Given the description of an element on the screen output the (x, y) to click on. 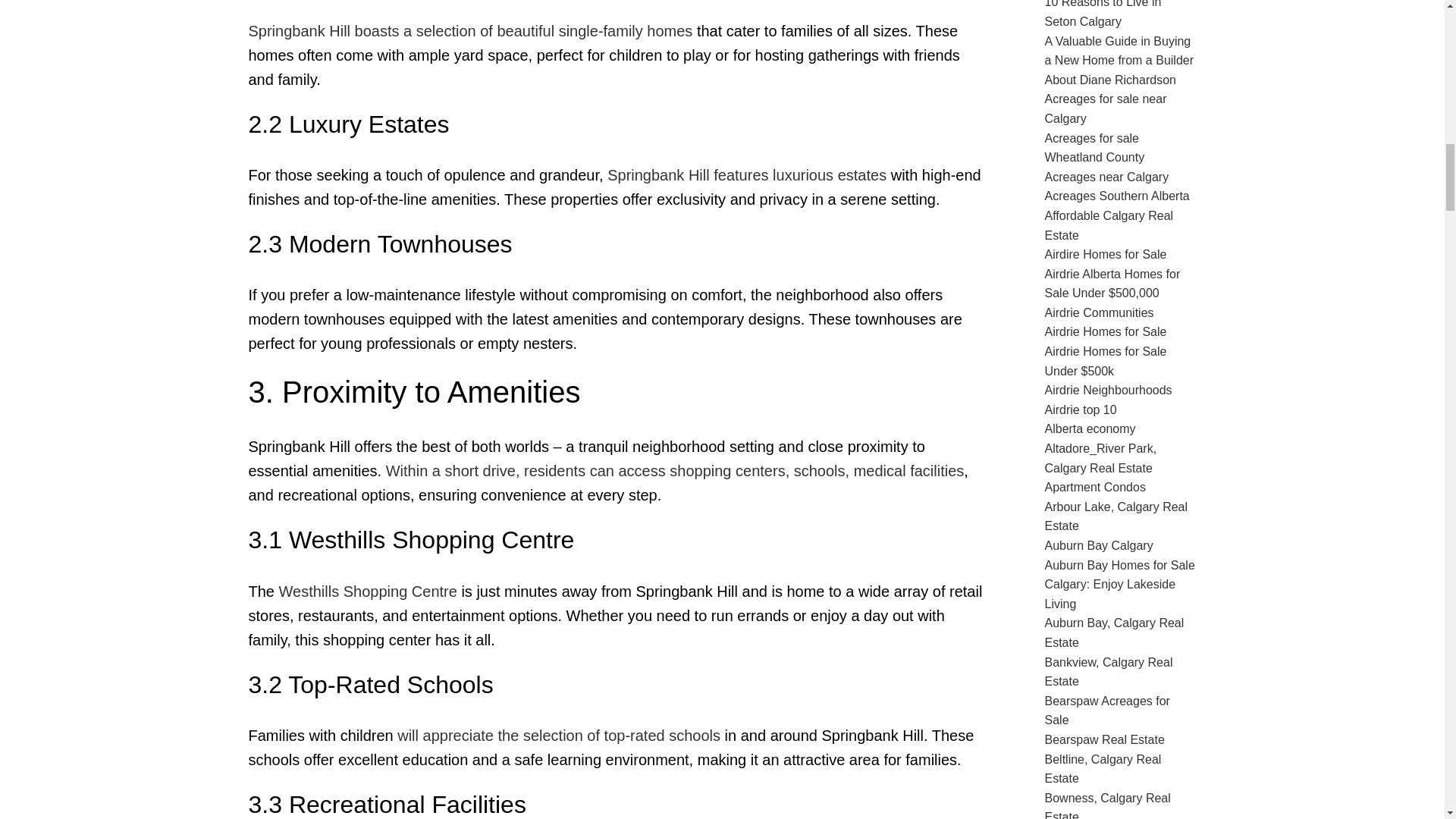
WestHills Towne Centre is your SW Calgary shopping centre (368, 591)
Springbank Hill Luxury Estate homes (746, 175)
Springbank Hill Homes for sale Calgary (470, 30)
Springbank Hill Calgary  (674, 470)
Springbank hill Schools (558, 735)
